Given the description of an element on the screen output the (x, y) to click on. 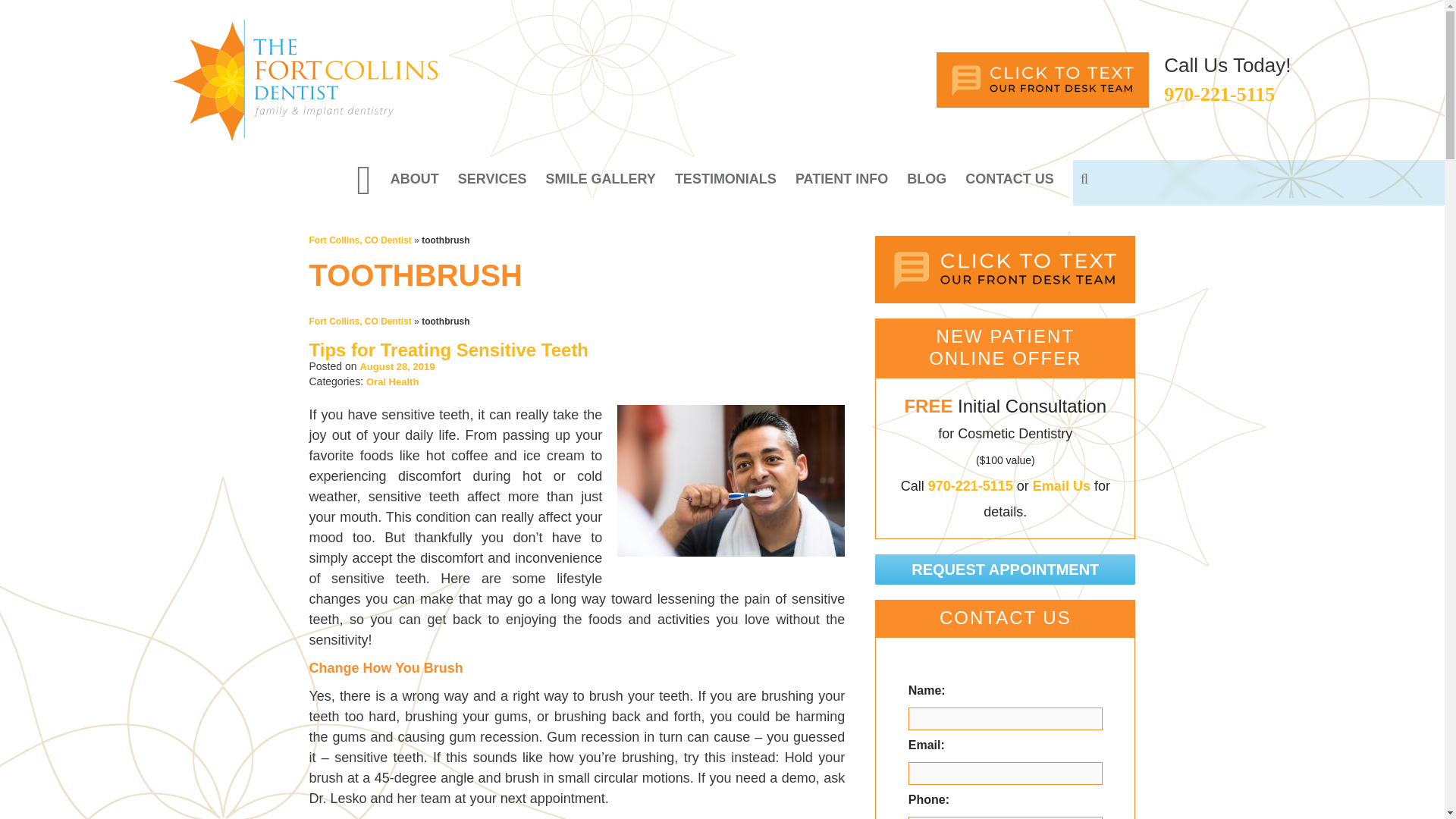
970-221-5115 (1219, 94)
SERVICES (492, 178)
ABOUT (414, 178)
